Given the description of an element on the screen output the (x, y) to click on. 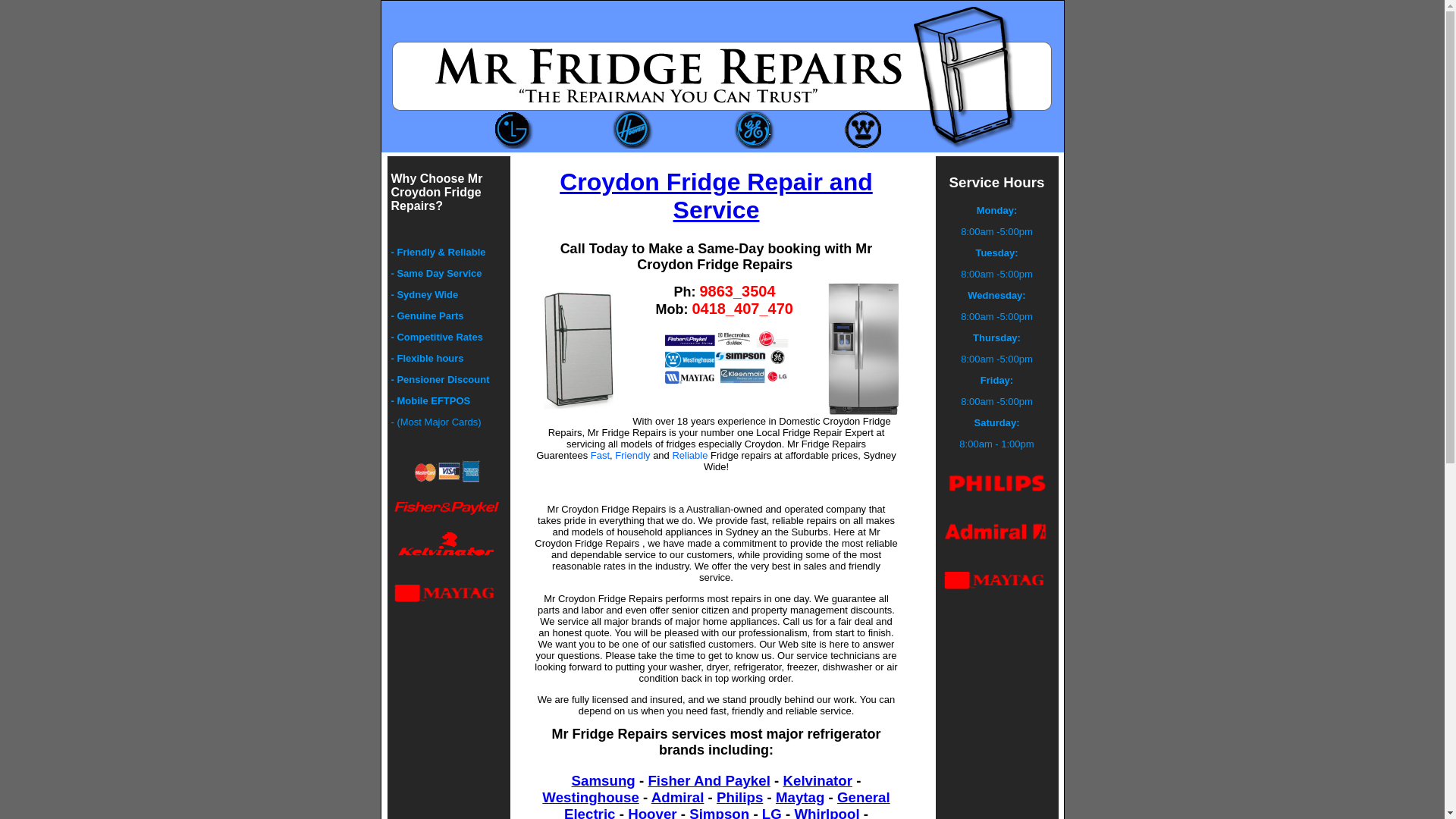
Westinghouse Element type: text (590, 797)
Philips Element type: text (739, 797)
Fisher And Paykel Element type: text (708, 780)
Admiral Element type: text (677, 797)
Samsung Element type: text (603, 780)
Croydon Fridge Repair and Service Element type: text (715, 195)
Kelvinator Element type: text (816, 780)
Maytag Element type: text (799, 797)
